Given the description of an element on the screen output the (x, y) to click on. 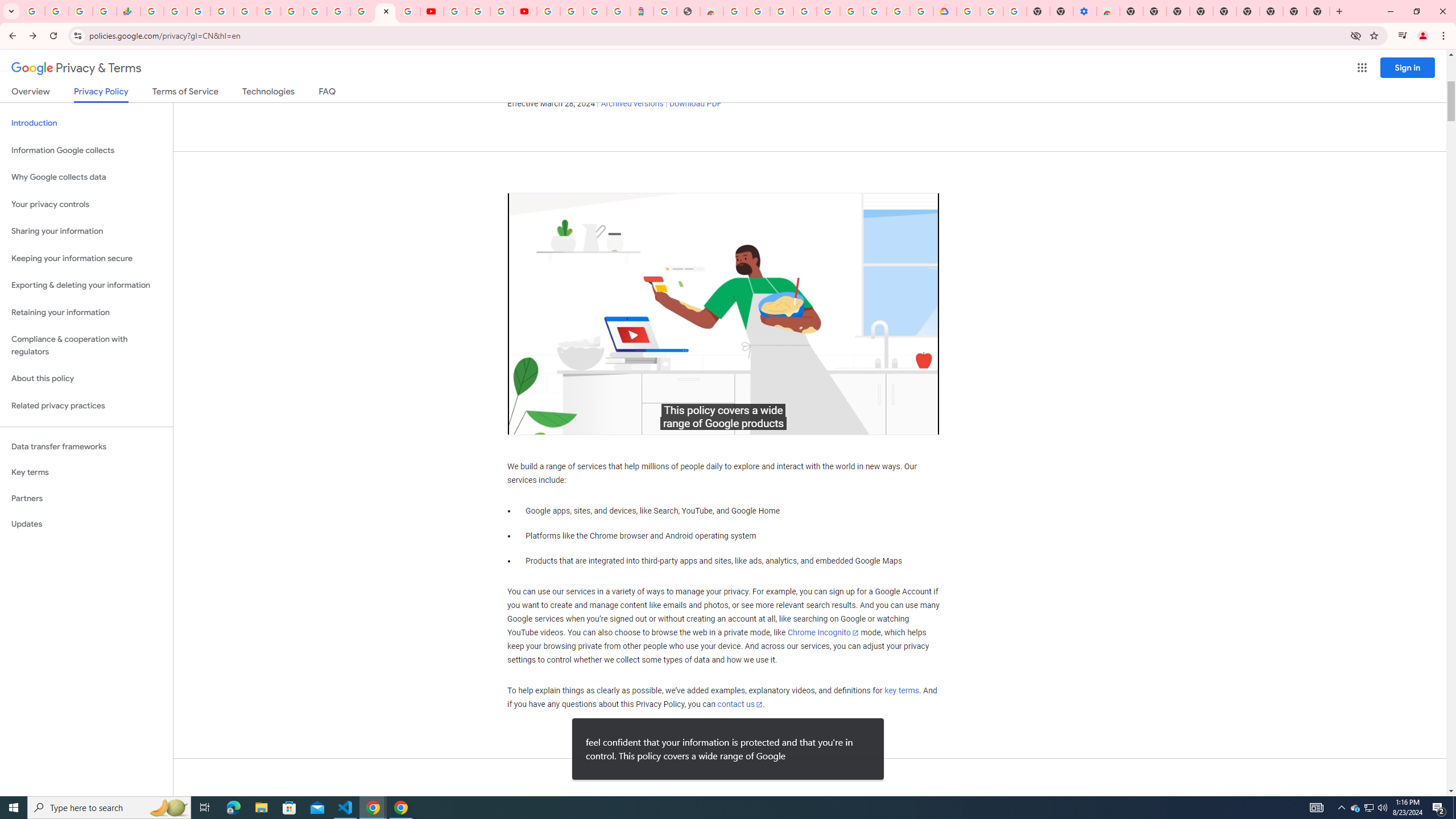
Google Account Help (478, 11)
Sign in - Google Accounts (221, 11)
YouTube (431, 11)
Chrome Incognito (823, 633)
Pause keyboard shortcut k (527, 422)
